Given the description of an element on the screen output the (x, y) to click on. 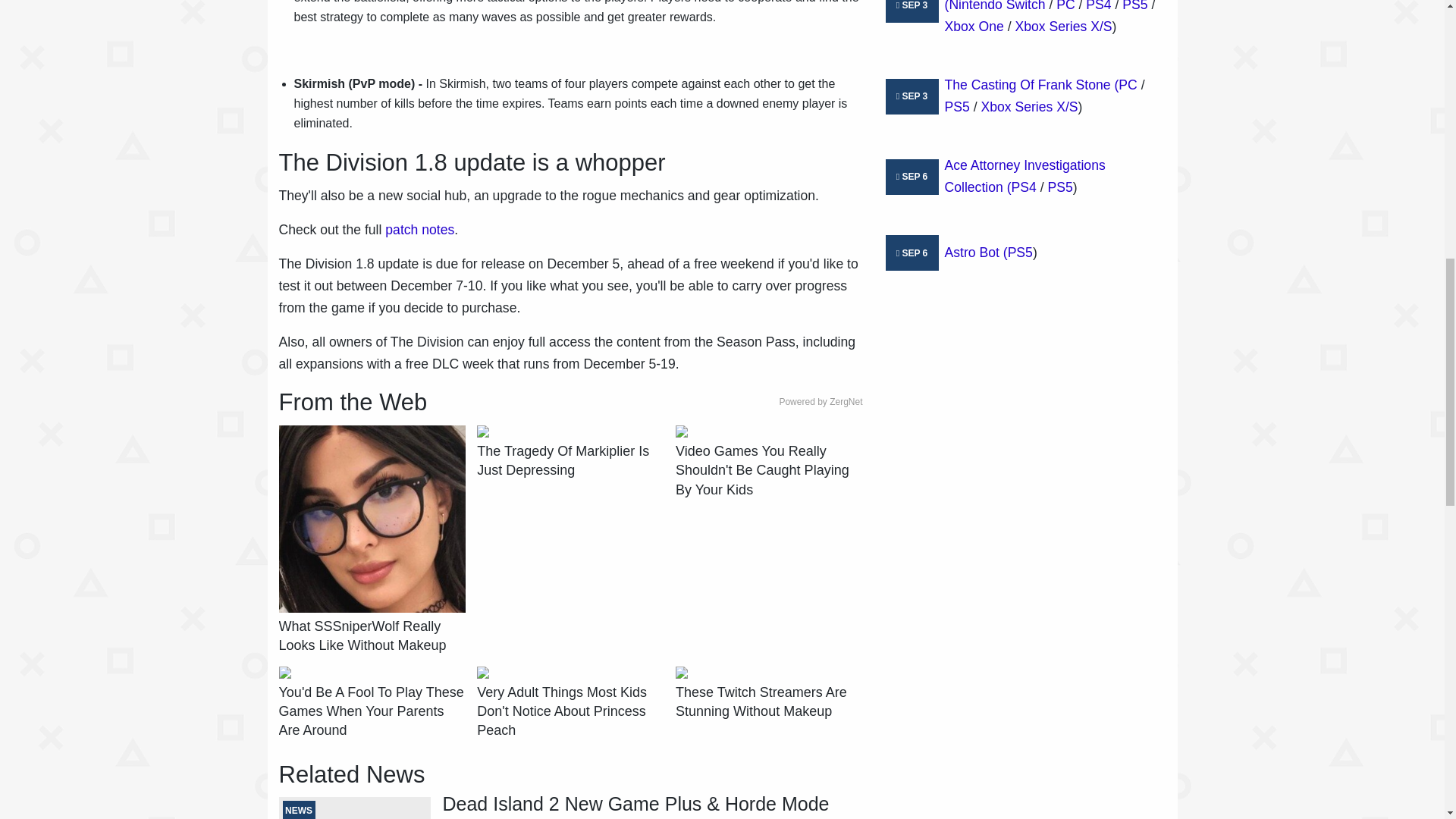
What SSSniperWolf Really Looks Like Without Makeup (372, 636)
These Twitch Streamers Are Stunning Without Makeup (768, 702)
Powered by ZergNet (819, 402)
NEWS (354, 807)
patch notes (419, 229)
The Tragedy Of Markiplier Is Just Depressing (570, 460)
